Given the description of an element on the screen output the (x, y) to click on. 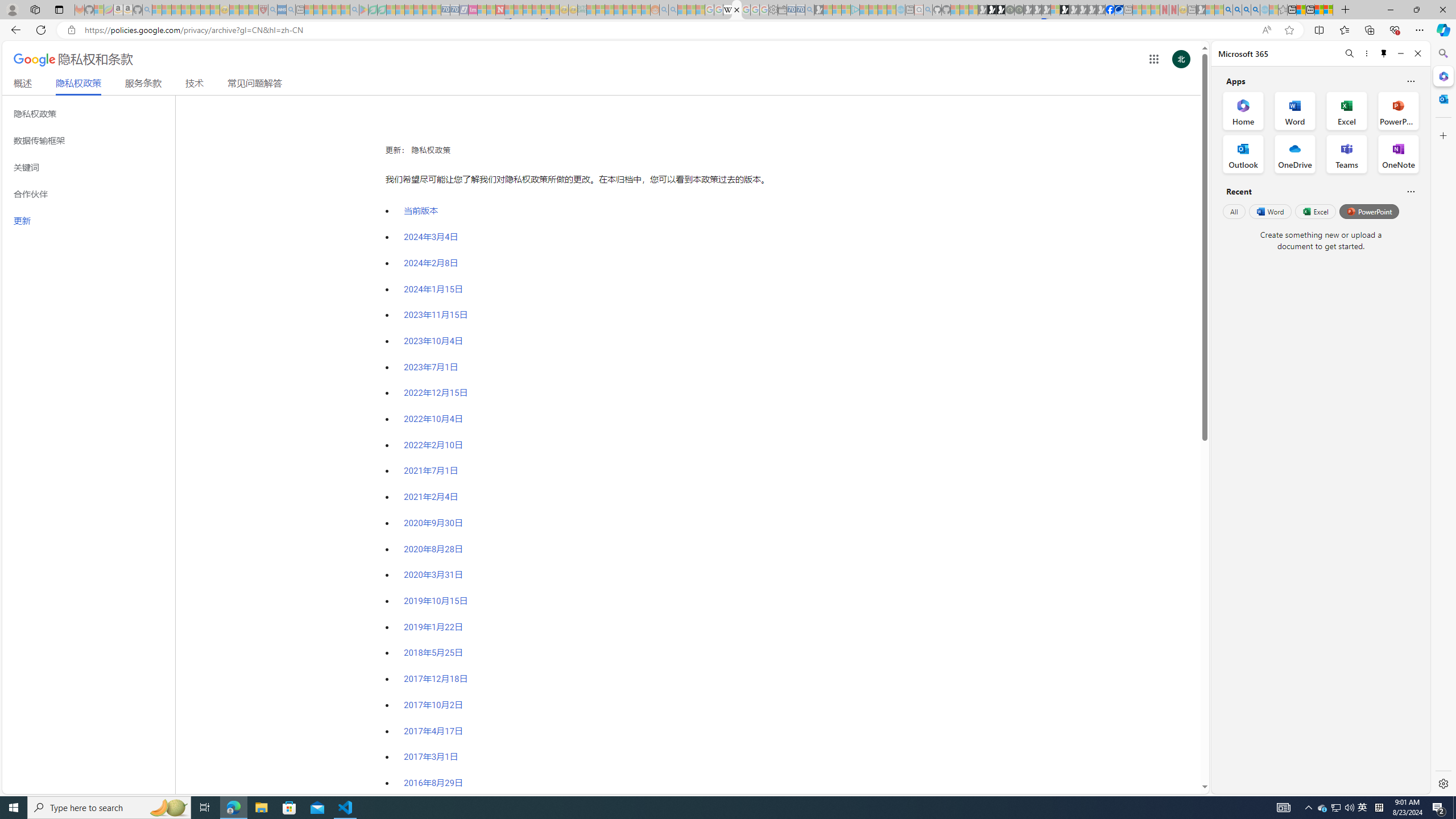
Excel (1315, 210)
